Given the description of an element on the screen output the (x, y) to click on. 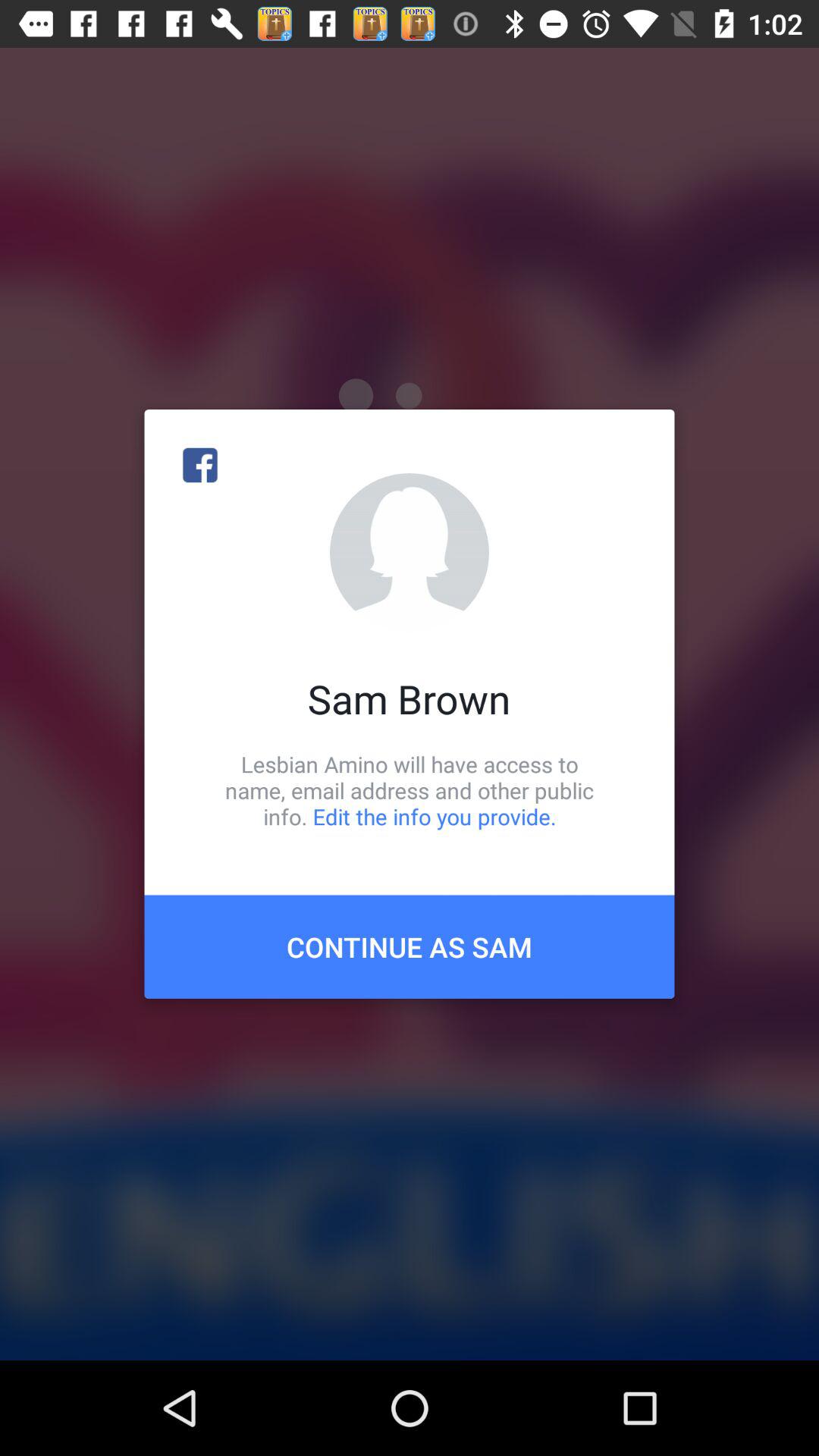
scroll until the lesbian amino will item (409, 790)
